Given the description of an element on the screen output the (x, y) to click on. 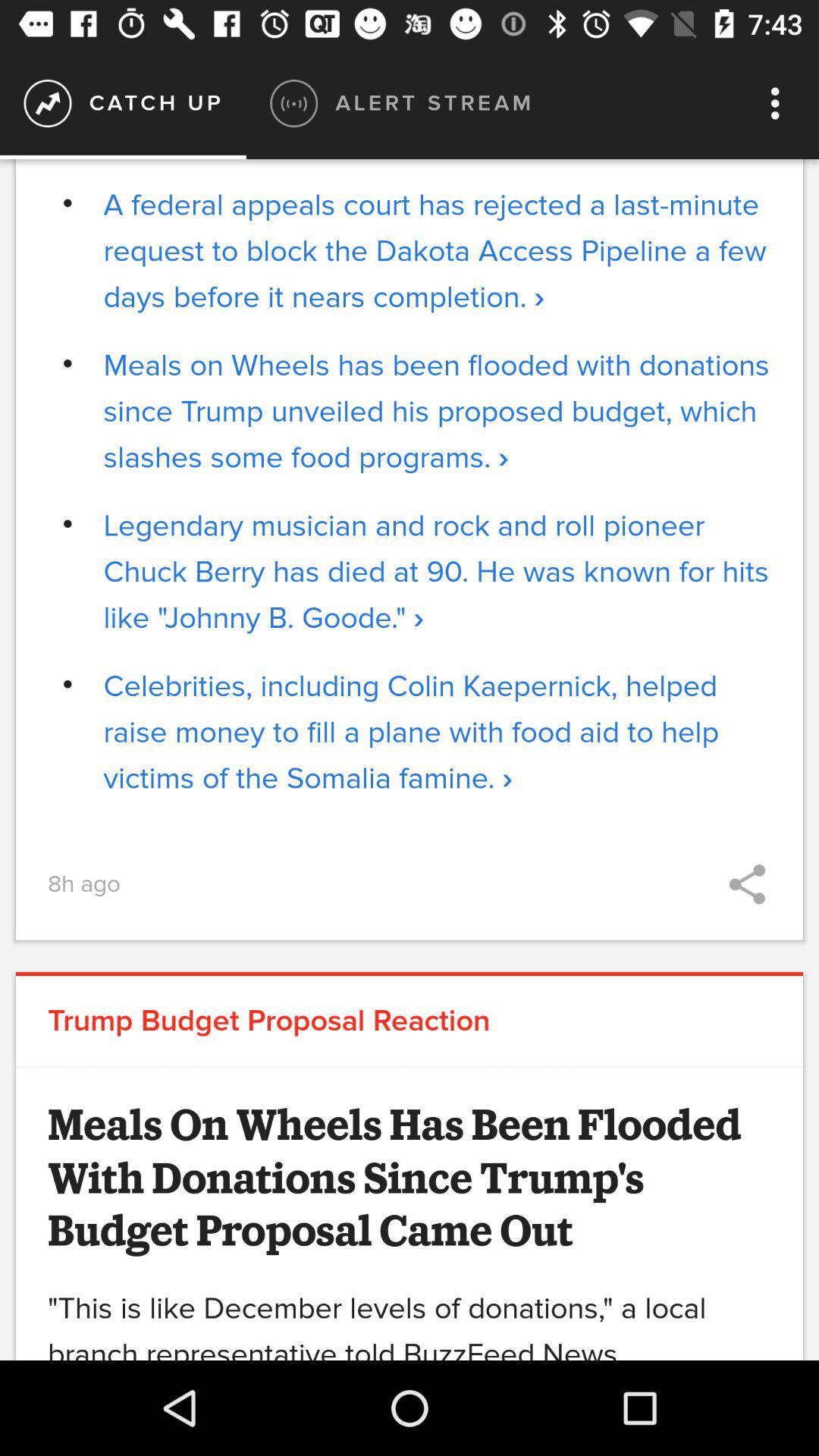
share news (747, 884)
